Given the description of an element on the screen output the (x, y) to click on. 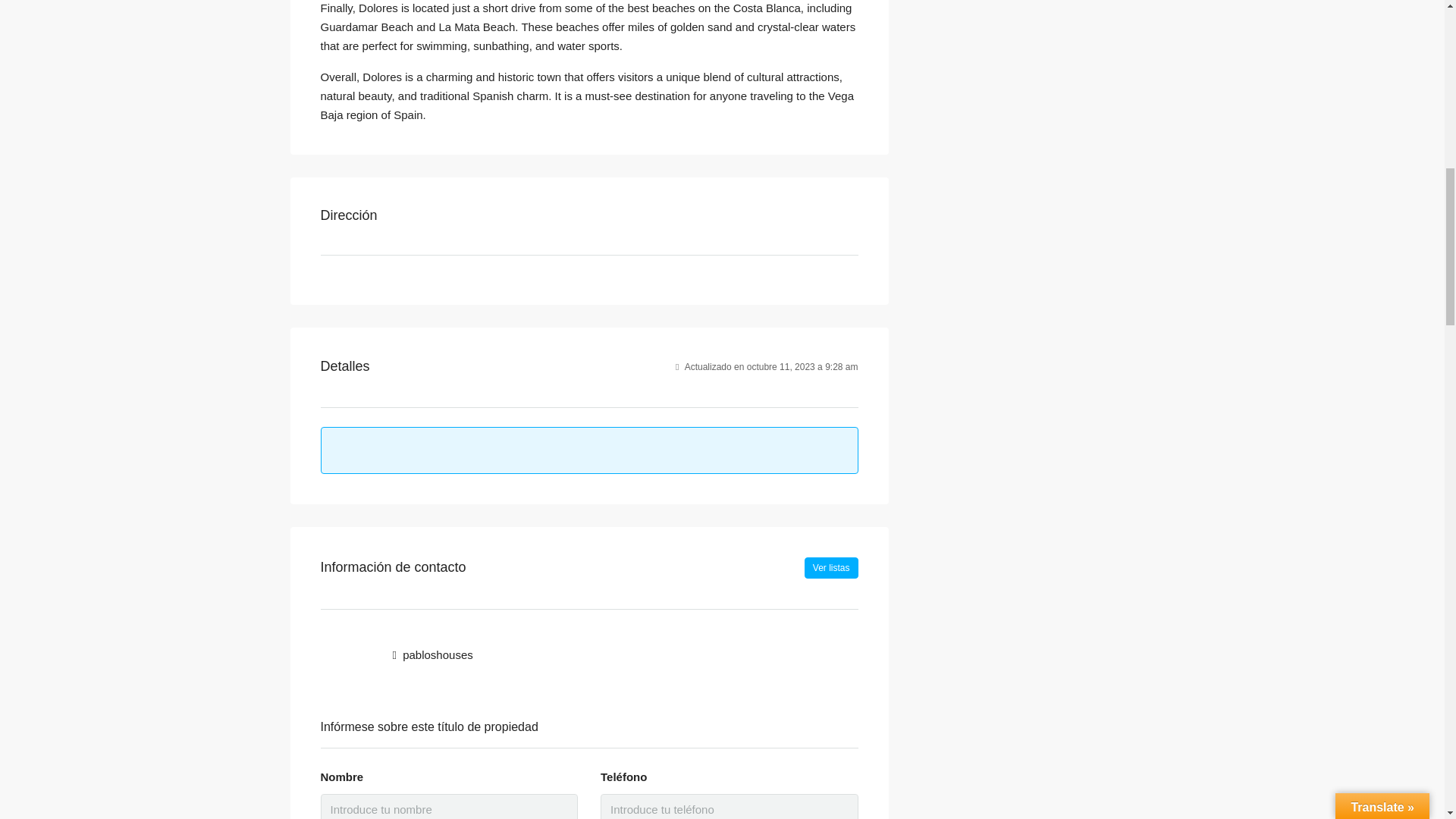
Ver listas (832, 567)
